Given the description of an element on the screen output the (x, y) to click on. 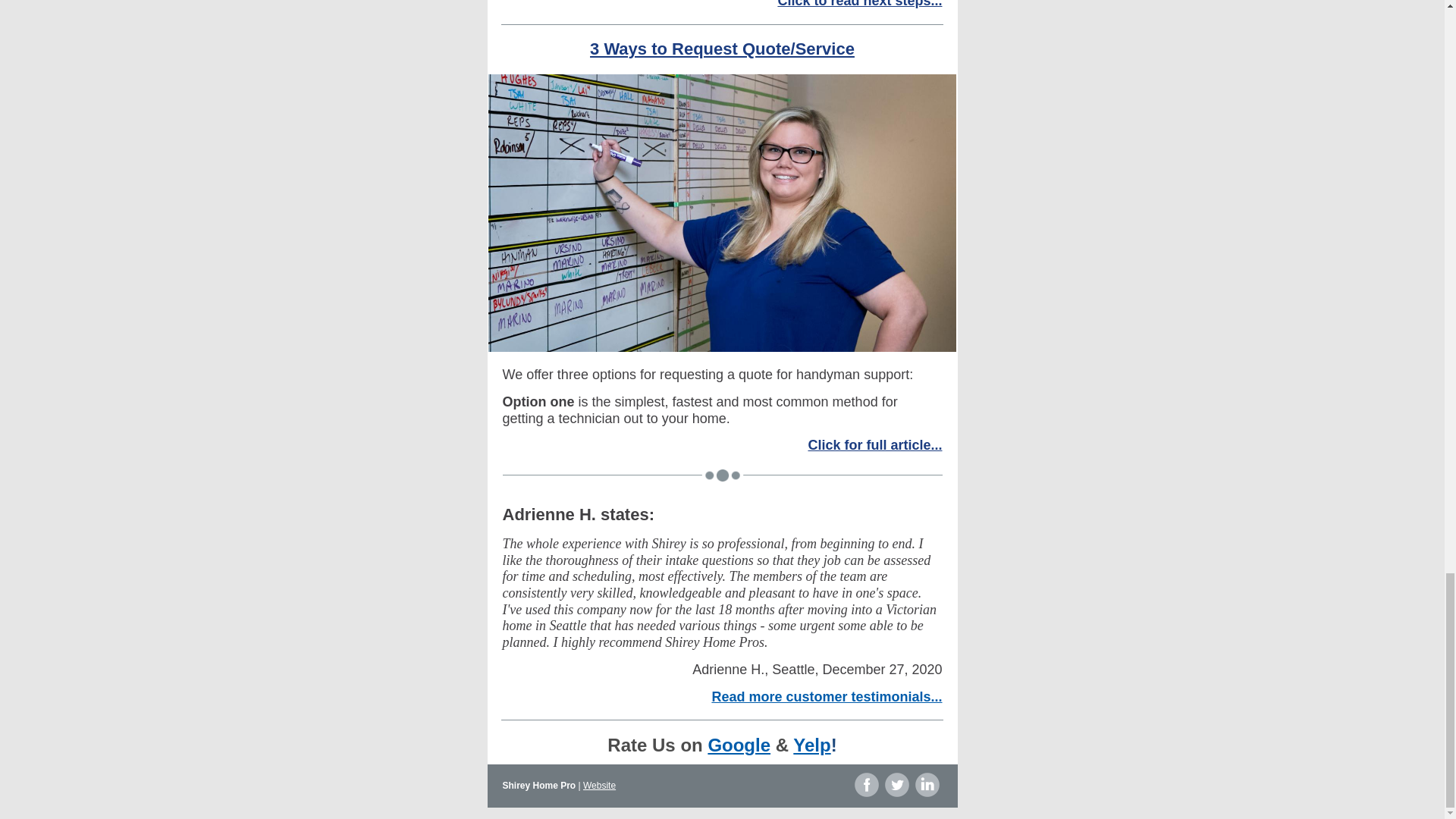
Website (599, 785)
Click to read next steps... (859, 4)
Read more customer testimonials... (826, 696)
Yelp (811, 744)
Click for full article... (875, 444)
Google (738, 744)
